Given the description of an element on the screen output the (x, y) to click on. 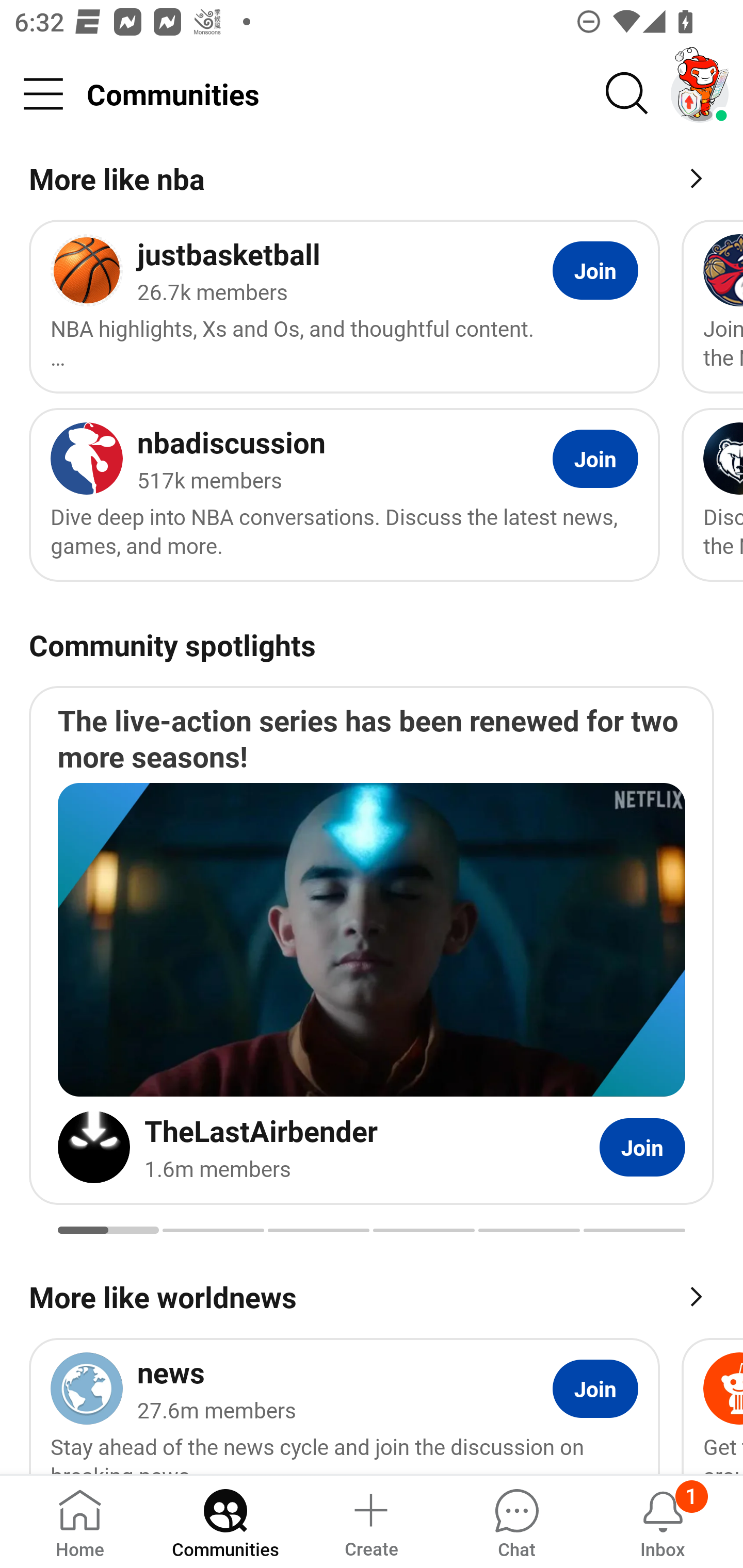
Community menu (43, 93)
Search (626, 93)
TestAppium002 account (699, 93)
More like nba View more (371, 181)
More like worldnews View more (371, 1294)
Home (80, 1520)
Communities (225, 1520)
Create a post Create (370, 1520)
Chat (516, 1520)
Inbox, has 1 notification 1 Inbox (662, 1520)
